Given the description of an element on the screen output the (x, y) to click on. 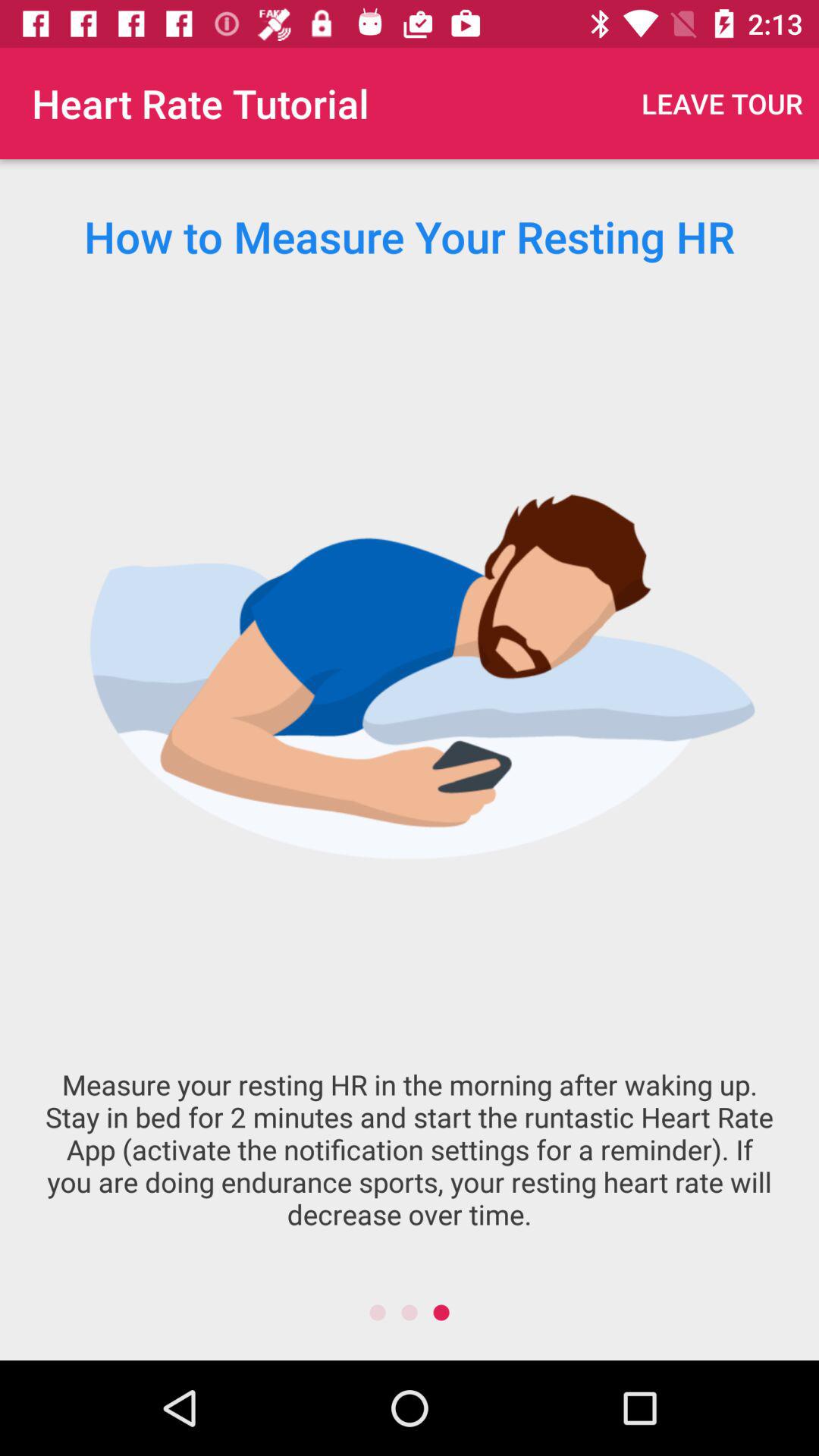
turn off the item at the top right corner (722, 103)
